Given the description of an element on the screen output the (x, y) to click on. 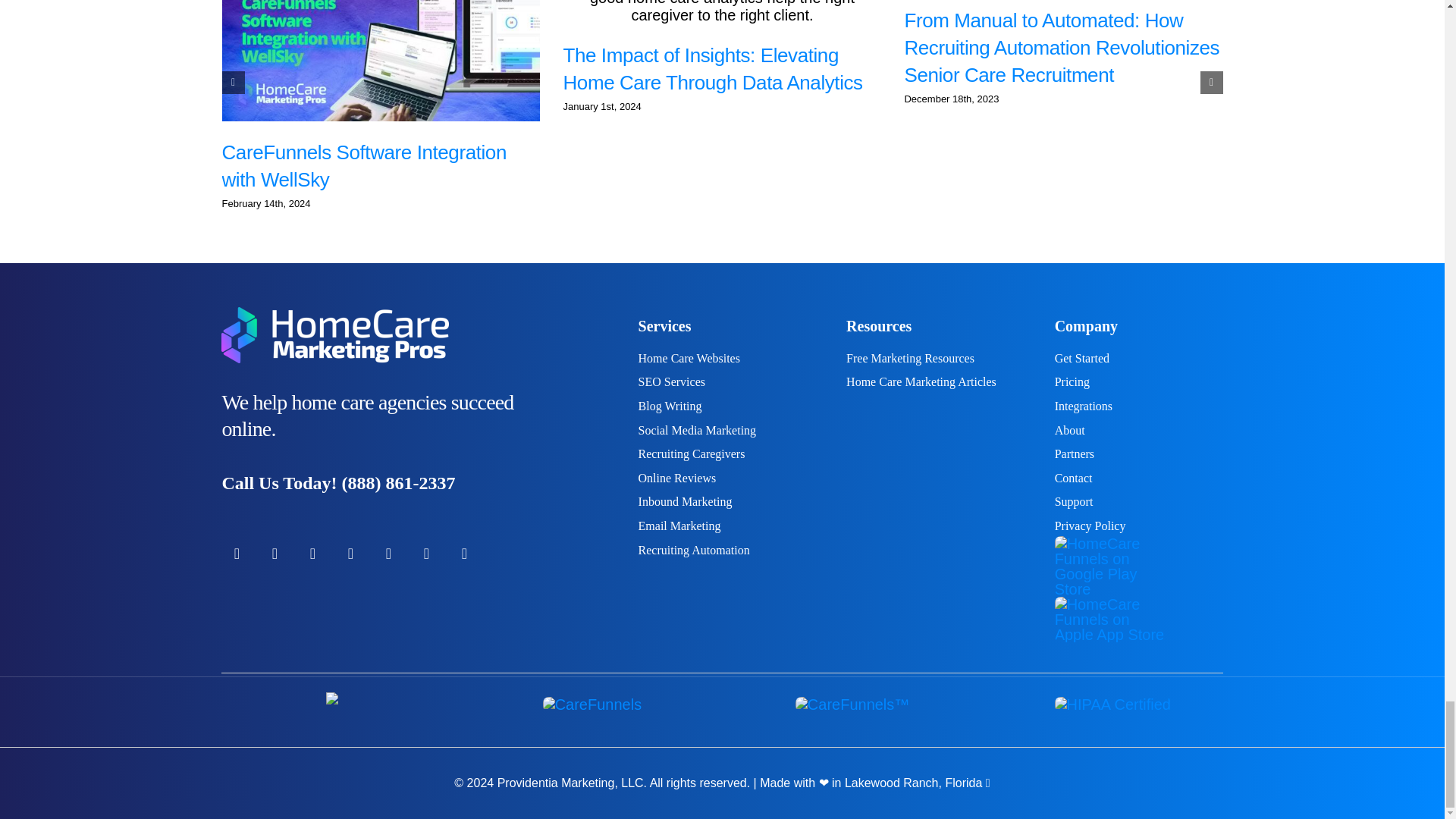
X (274, 553)
Instagram (312, 553)
CareFunnels Software Integration with WellSky (363, 165)
Facebook (236, 553)
